Given the description of an element on the screen output the (x, y) to click on. 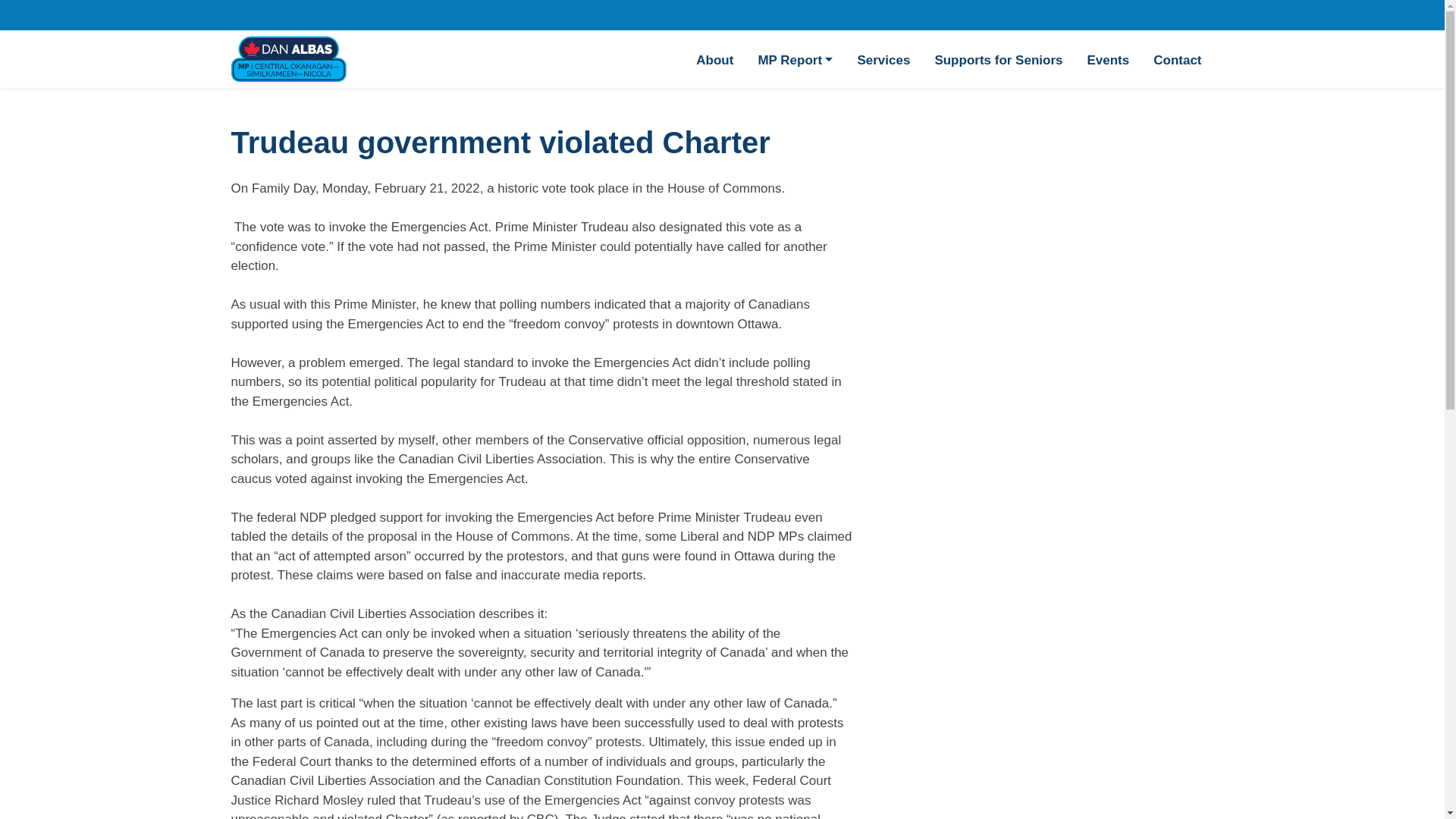
Events (1107, 59)
About (714, 59)
Services (882, 59)
MP Report (794, 59)
Contact (1176, 59)
Supports for Seniors (997, 59)
